Given the description of an element on the screen output the (x, y) to click on. 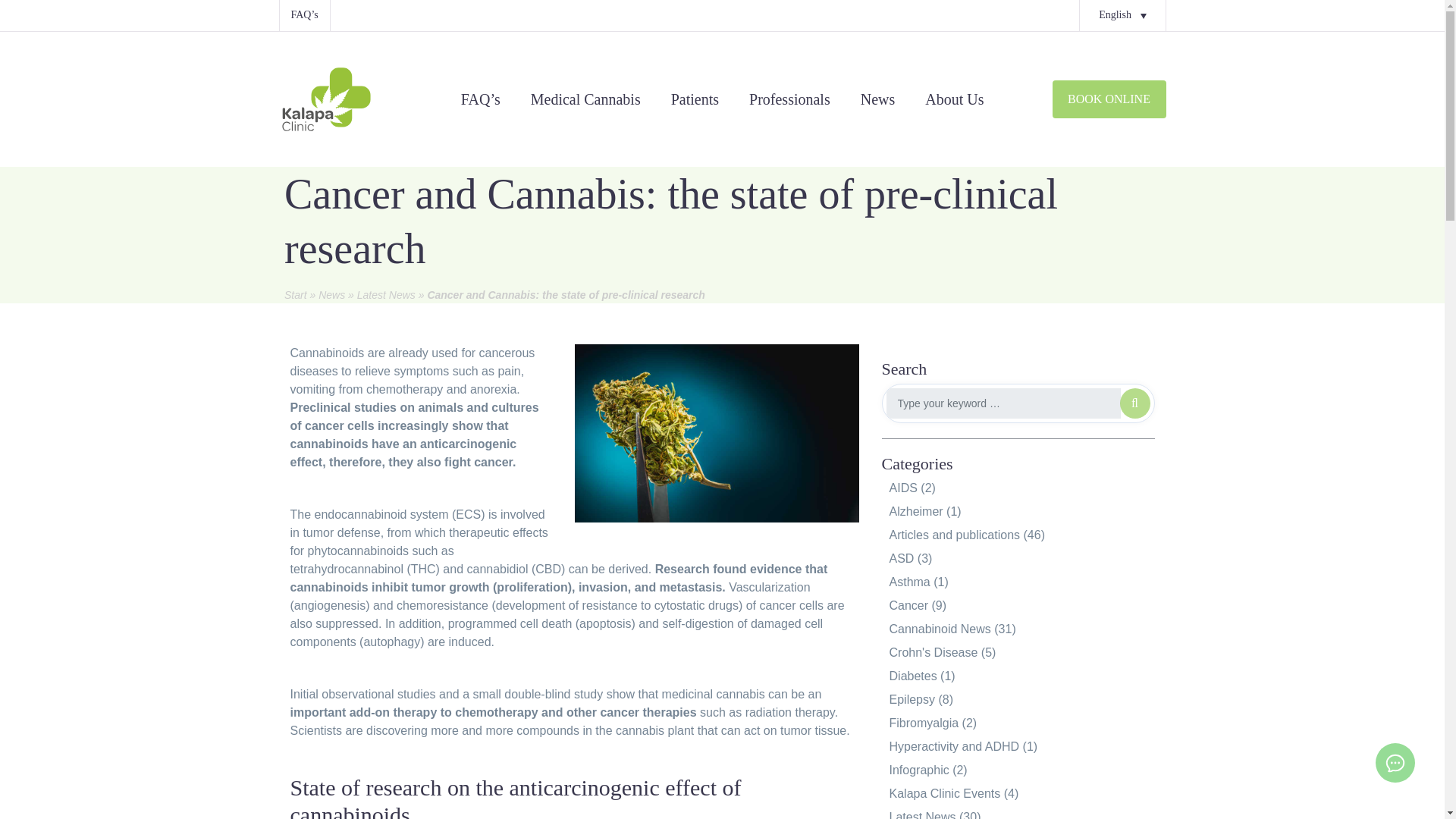
Cancer (908, 604)
AIDS (903, 487)
Professionals (789, 99)
Cannabinoid News (940, 628)
Articles and publications (954, 534)
News (331, 295)
Latest News (385, 295)
Medical Cannabis (585, 99)
Start (295, 295)
BOOK ONLINE (1109, 98)
Asthma (909, 581)
Medical Cannabis (585, 99)
English (1121, 15)
Alzheimer (916, 511)
ASD (901, 558)
